Given the description of an element on the screen output the (x, y) to click on. 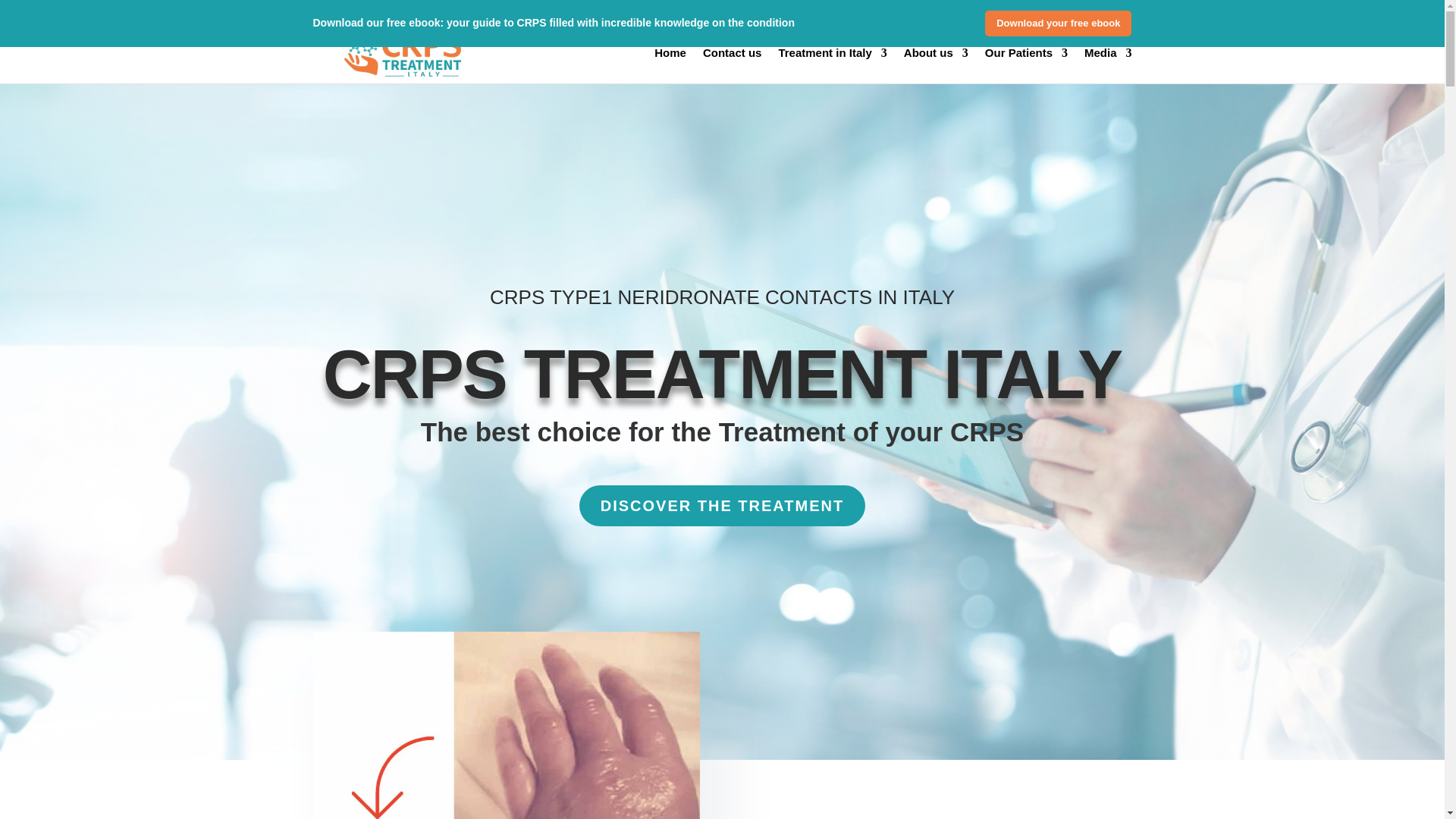
Treatment in Italy (831, 65)
Home (669, 65)
About us (936, 65)
Download your free ebook (1058, 23)
Our Patients (1026, 65)
Media (1108, 65)
DISCOVER THE TREATMENT (721, 505)
Original-patient-pictures (505, 725)
Contact us (732, 65)
